Given the description of an element on the screen output the (x, y) to click on. 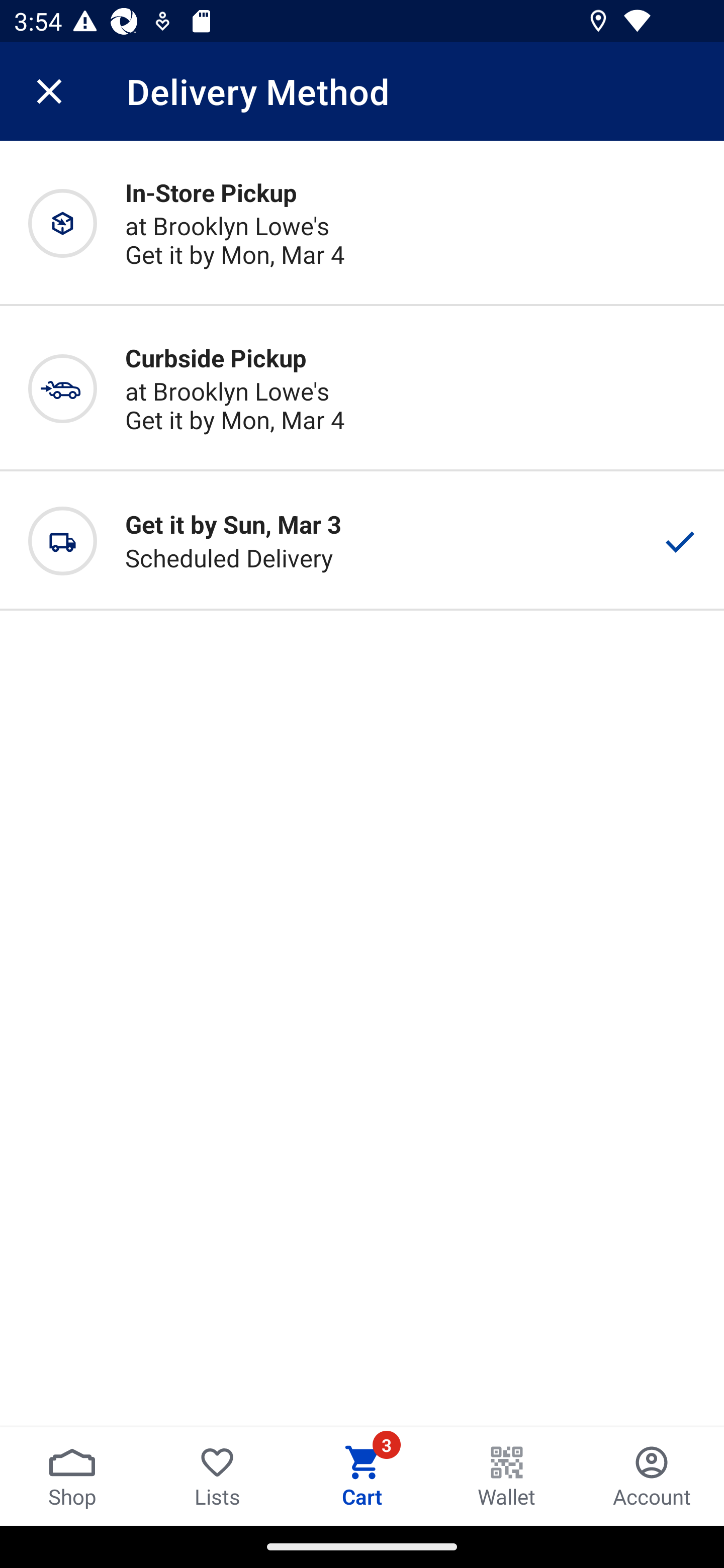
Close (49, 91)
Get it by Sun, Mar 3 Scheduled Delivery (362, 540)
Shop (72, 1475)
Lists (216, 1475)
Wallet (506, 1475)
Account (651, 1475)
